Given the description of an element on the screen output the (x, y) to click on. 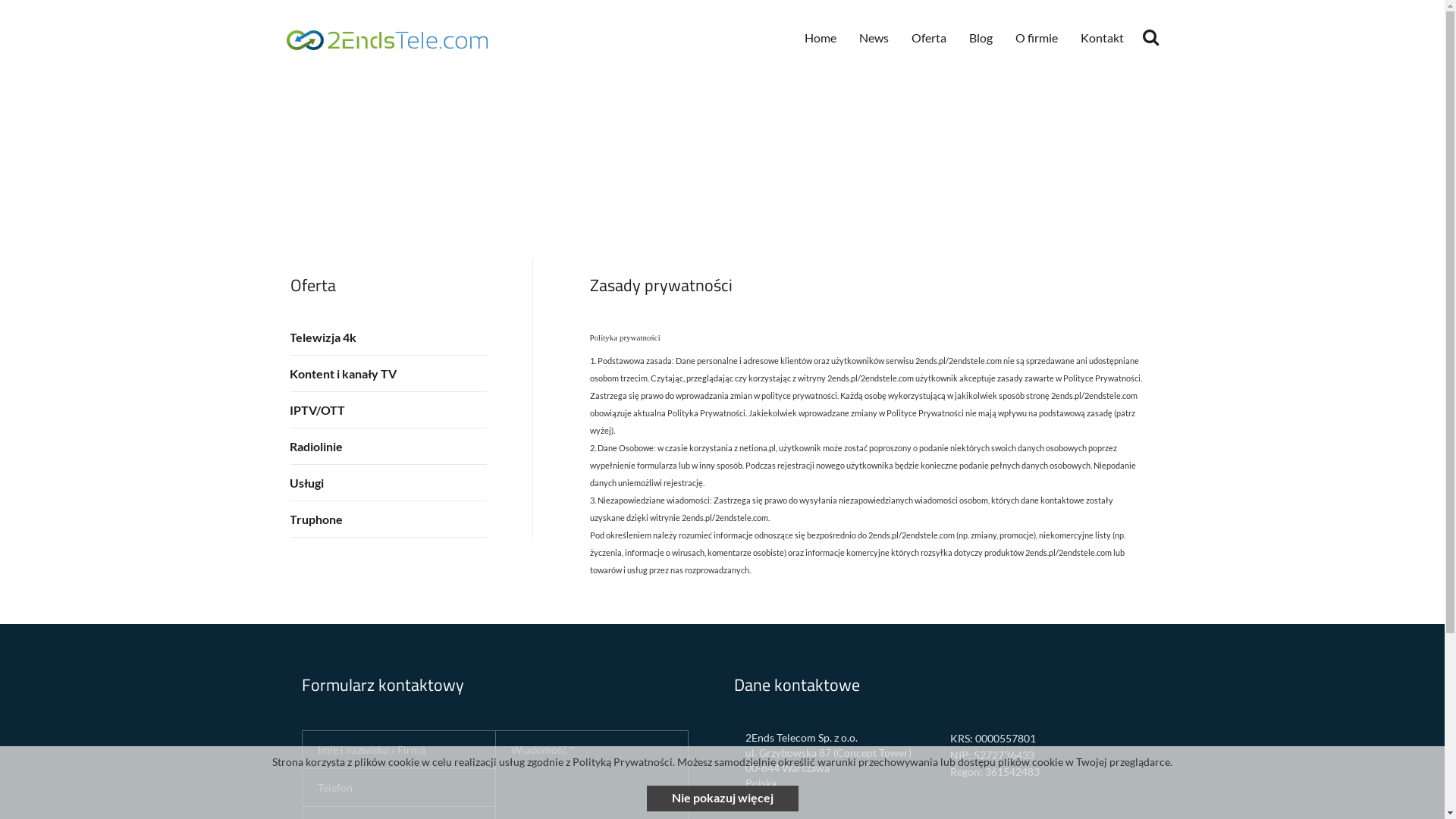
O firmie Element type: text (1036, 37)
Telewizja 4k Element type: text (387, 336)
Truphone Element type: text (387, 518)
Blog Element type: text (980, 37)
News Element type: text (873, 37)
Oferta Element type: text (928, 37)
Kontakt Element type: text (1102, 37)
IPTV/OTT Element type: text (387, 409)
Home Element type: text (820, 37)
Radiolinie Element type: text (387, 446)
Oferta Element type: text (312, 285)
